Given the description of an element on the screen output the (x, y) to click on. 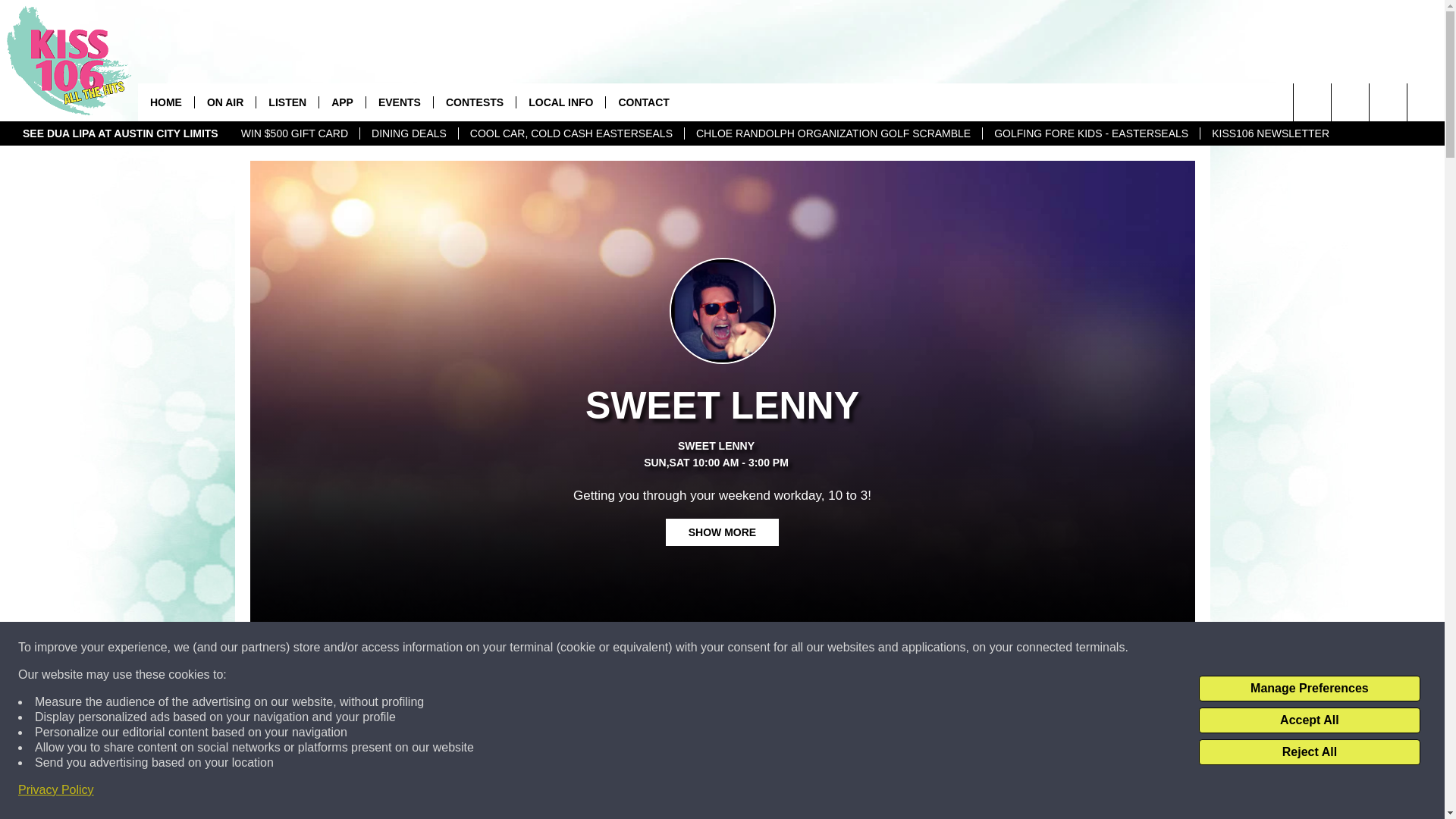
HOME (165, 102)
Accept All (1309, 720)
GOLFING FORE KIDS - EASTERSEALS (1090, 133)
Manage Preferences (1309, 688)
COOL CAR, COLD CASH EASTERSEALS (571, 133)
ON AIR (224, 102)
SEE DUA LIPA AT AUSTIN CITY LIMITS (120, 133)
Privacy Policy (55, 789)
KISS106 NEWSLETTER (1269, 133)
DINING DEALS (408, 133)
Reject All (1309, 751)
CHLOE RANDOLPH ORGANIZATION GOLF SCRAMBLE (832, 133)
Sweet Lenny (722, 445)
LISTEN (287, 102)
